Given the description of an element on the screen output the (x, y) to click on. 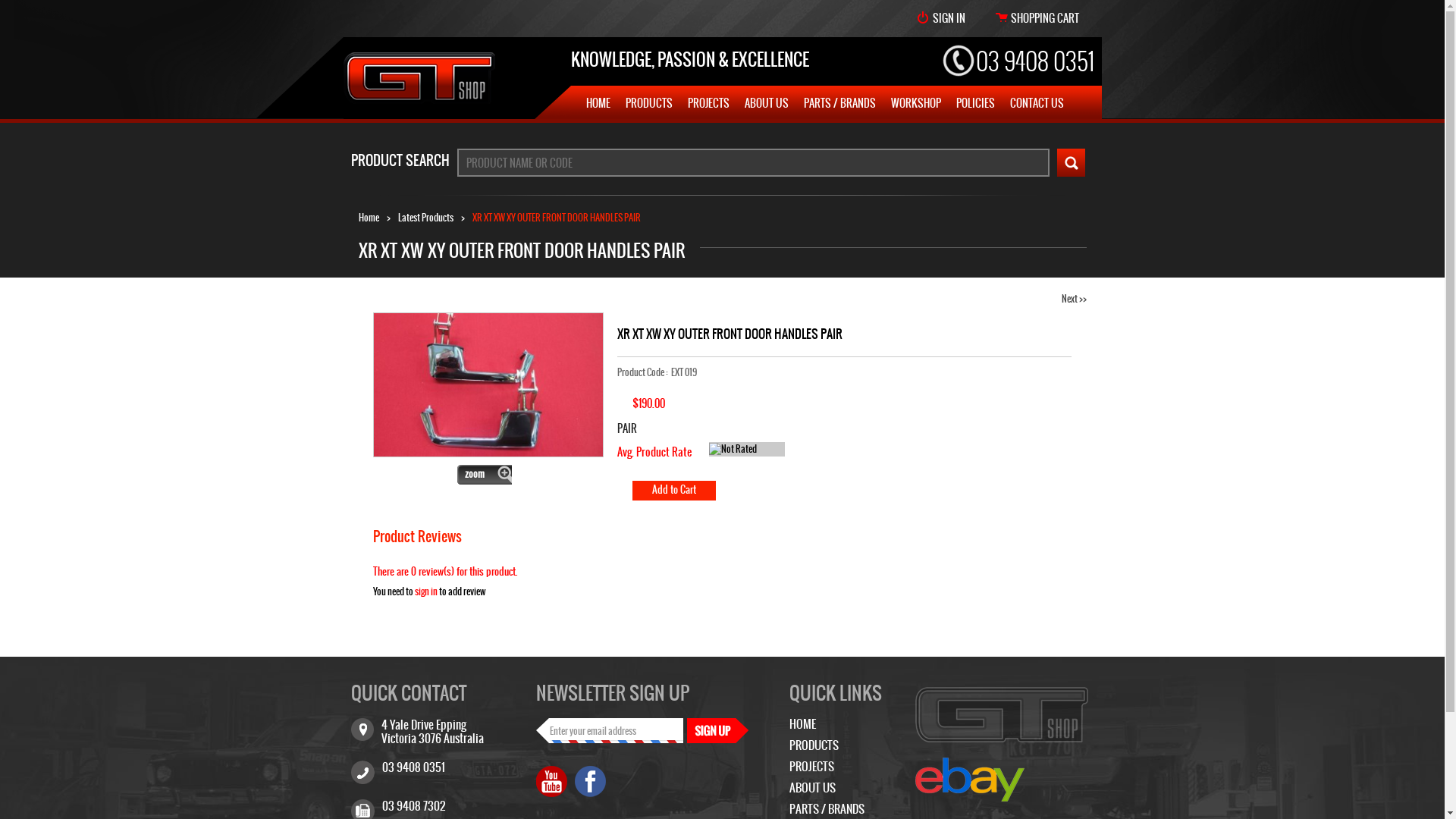
Latest Products Element type: text (424, 217)
ABOUT US Element type: text (766, 102)
PROJECTS Element type: text (707, 102)
PRODUCTS Element type: text (812, 744)
Add to Cart Element type: text (673, 490)
CONTACT US Element type: text (1036, 102)
PARTS / BRANDS Element type: text (825, 808)
Home Element type: text (367, 217)
HOME Element type: text (801, 723)
PRODUCTS Element type: text (647, 102)
ABOUT US Element type: text (811, 787)
HOME Element type: text (597, 102)
XR XT XW XY OUTER DOOR HANDLES Element type: hover (487, 384)
WORKSHOP Element type: text (915, 102)
PROJECTS Element type: text (810, 766)
POLICIES Element type: text (974, 102)
Next >> Element type: text (1073, 298)
zoom Element type: text (484, 474)
PARTS / BRANDS Element type: text (839, 102)
sign in Element type: text (425, 591)
